Given the description of an element on the screen output the (x, y) to click on. 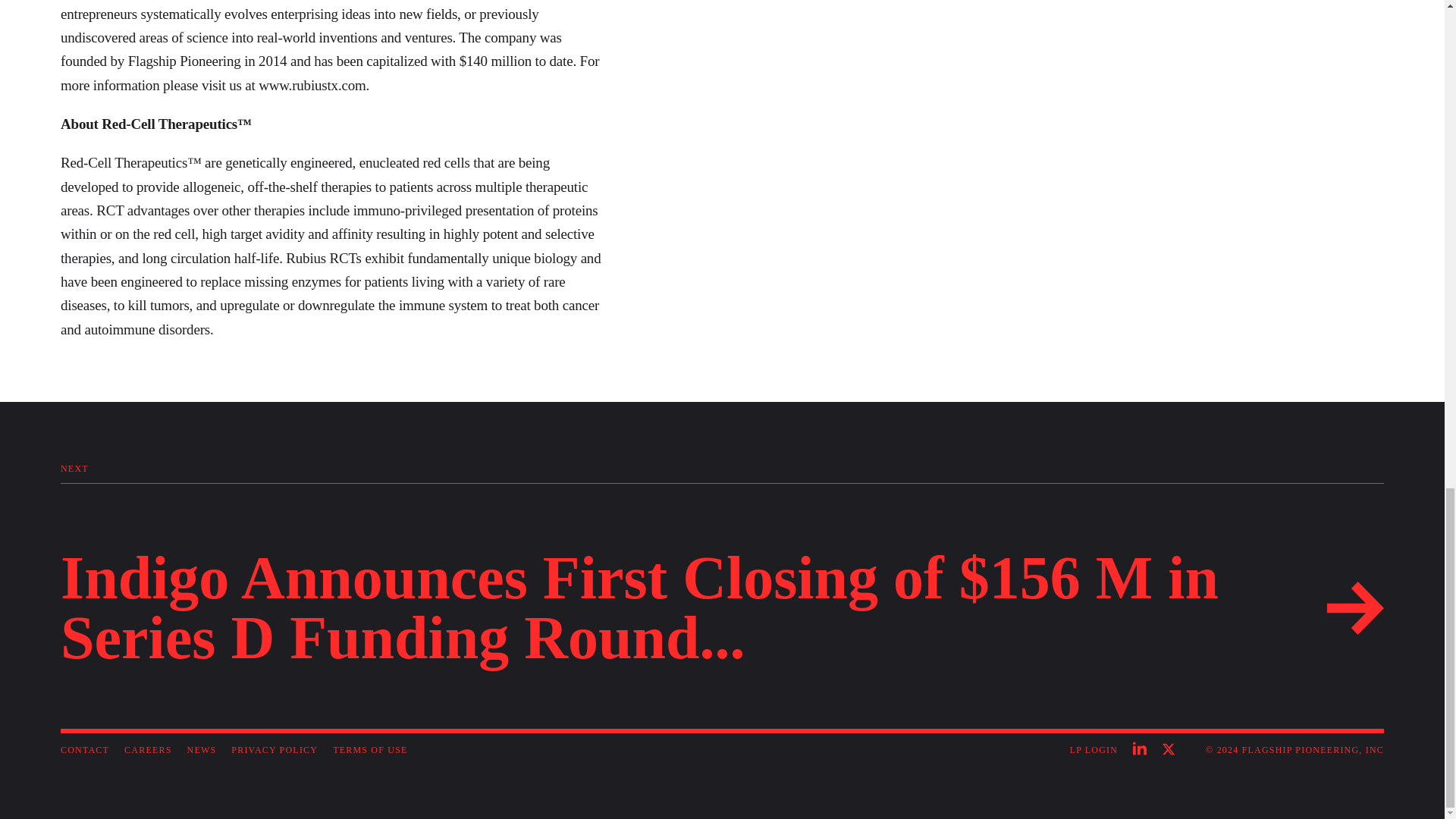
LP LOGIN (1094, 750)
TERMS OF USE (370, 749)
Follow on twitter (1164, 750)
CAREERS (147, 749)
Follow on linkedin (1143, 750)
PRIVACY POLICY (274, 749)
NEWS (201, 749)
CONTACT (85, 749)
